Given the description of an element on the screen output the (x, y) to click on. 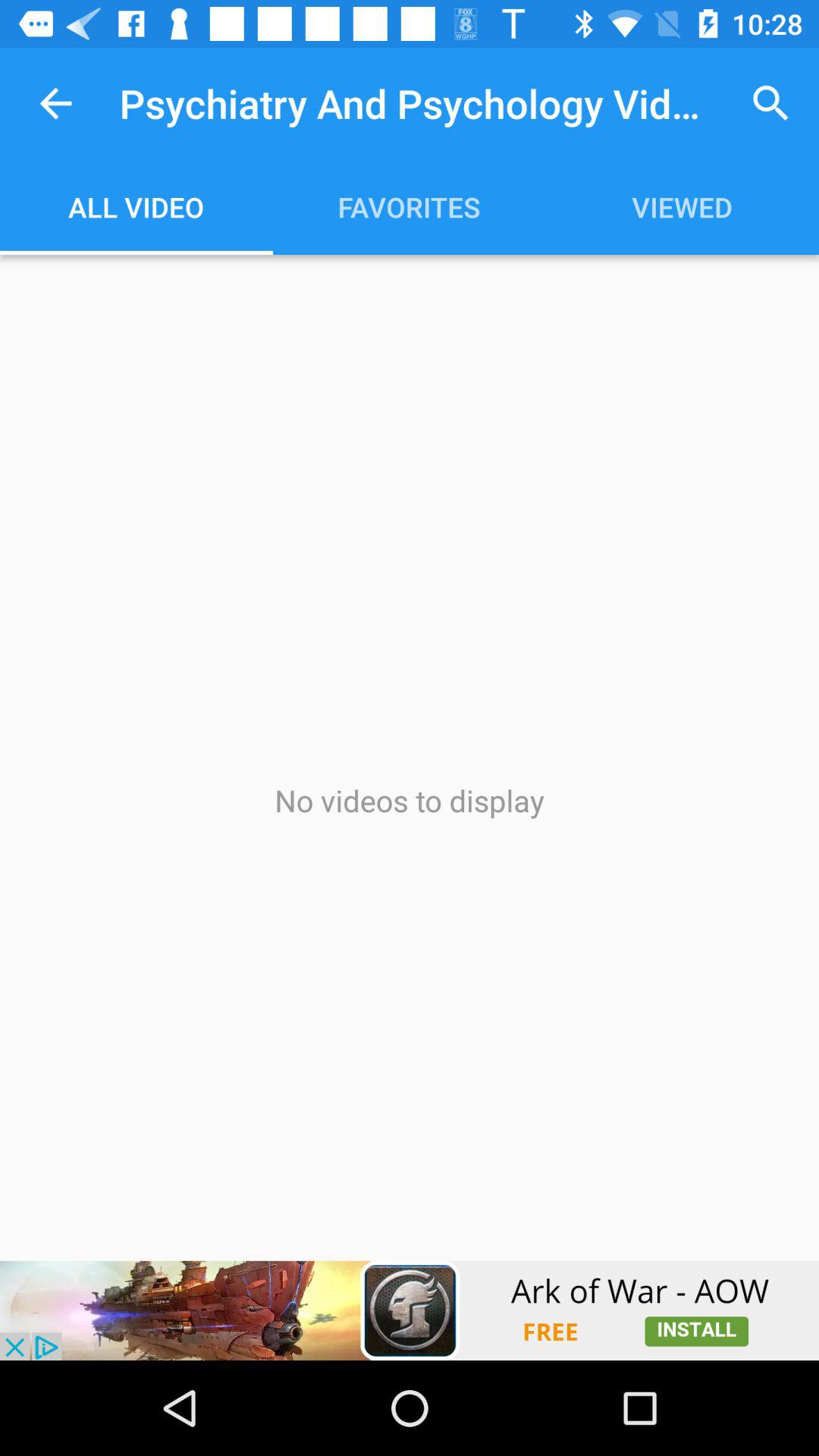
learn about this product (409, 1310)
